Given the description of an element on the screen output the (x, y) to click on. 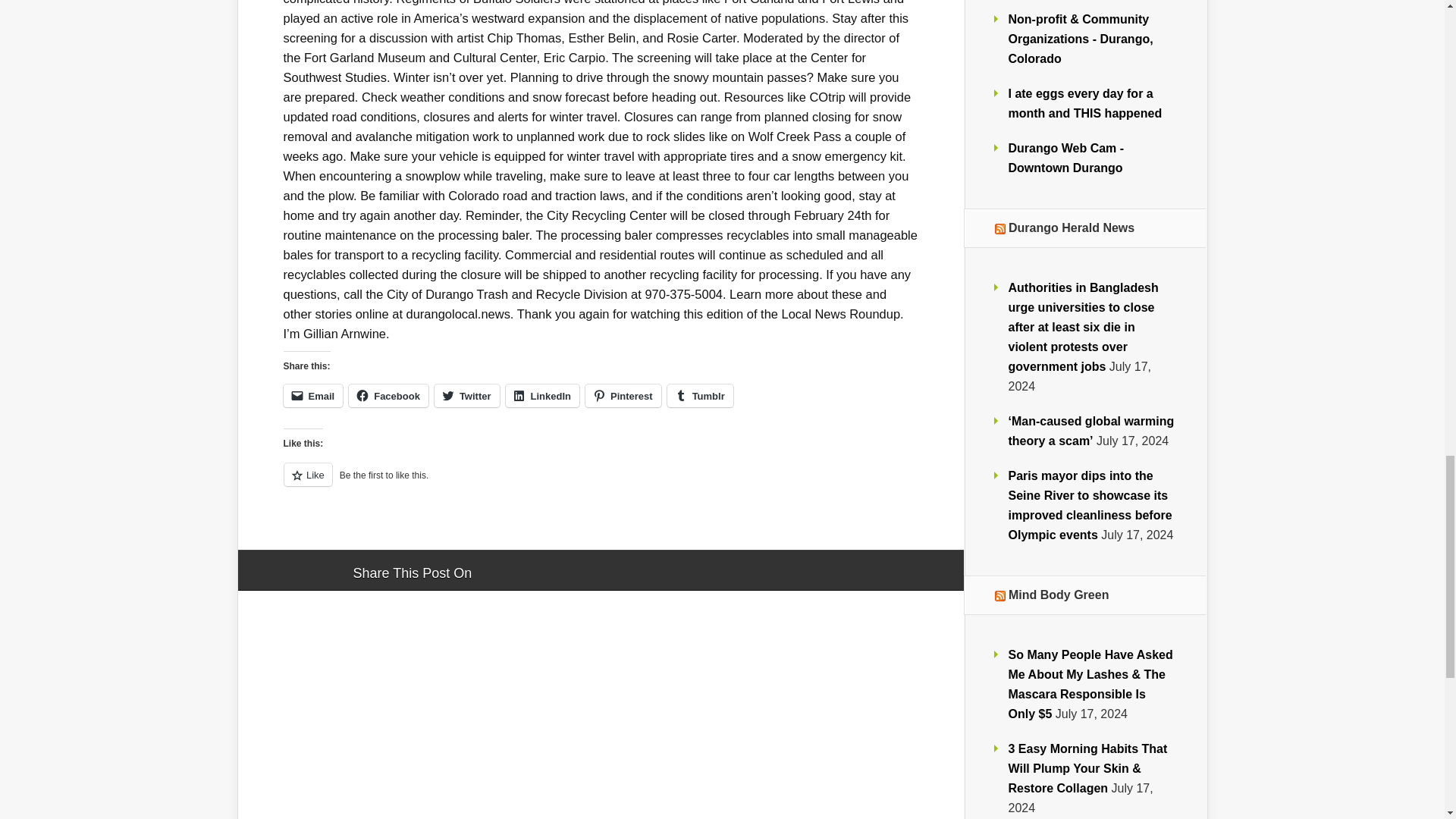
Click to share on LinkedIn (542, 395)
Click to share on Twitter (466, 395)
Like or Reblog (600, 483)
Click to share on Pinterest (623, 395)
Click to share on Tumblr (699, 395)
Click to email a link to a friend (313, 395)
Click to share on Facebook (388, 395)
